Given the description of an element on the screen output the (x, y) to click on. 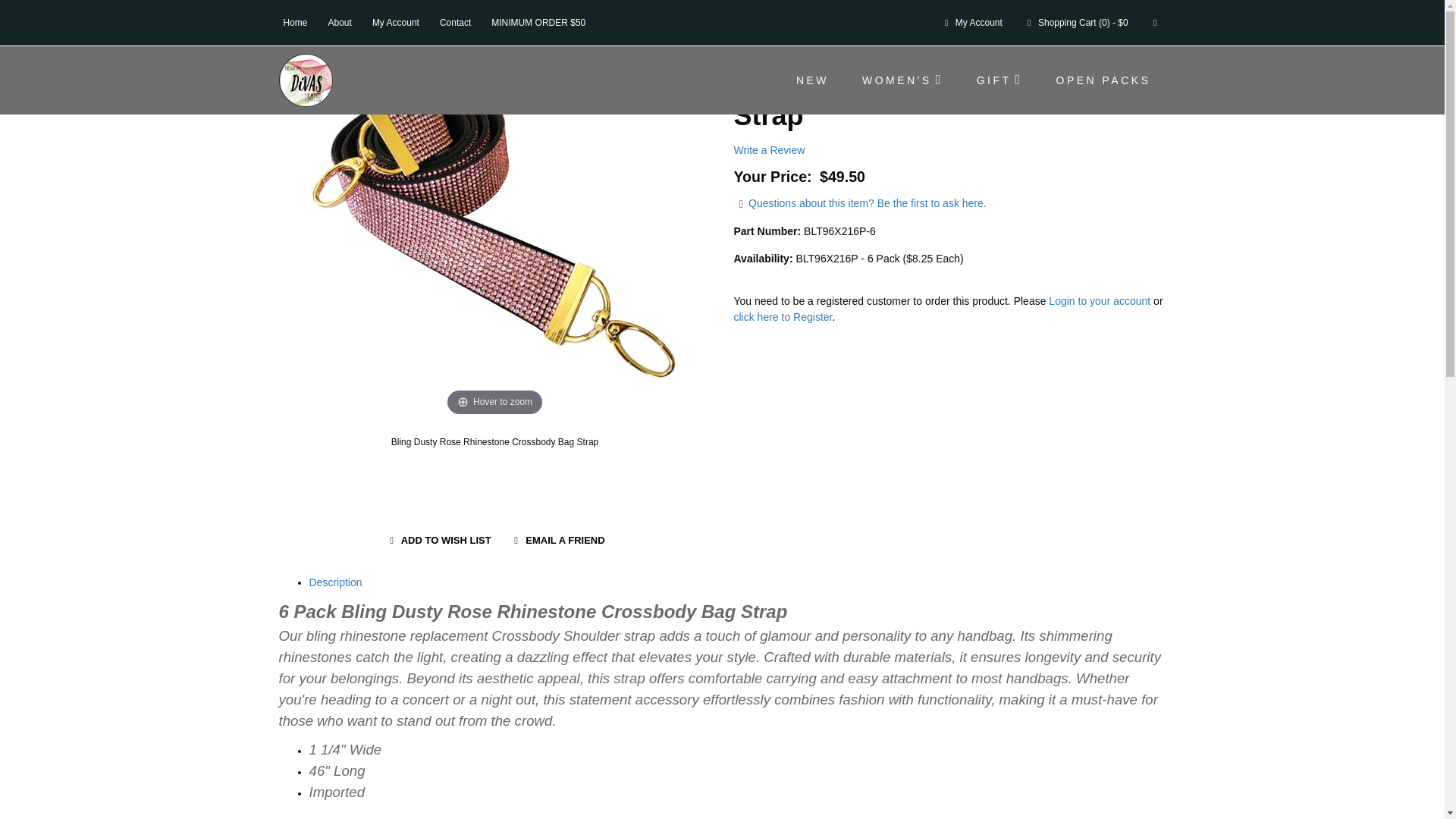
Bling Dusty Rose Rhinestone Crossbody Bag Strap  (495, 441)
Search (1155, 22)
Open Packs (349, 20)
My Account (971, 22)
GIFT (999, 80)
WOMEN'S (902, 80)
6 Pack Bling Dusty Rose Rhinestone Crossbody Bag Strap (532, 20)
OPEN PACKS (1103, 80)
NEW (812, 80)
Home (296, 22)
Home (293, 20)
About (339, 22)
My Account (395, 22)
Contact (455, 22)
